Given the description of an element on the screen output the (x, y) to click on. 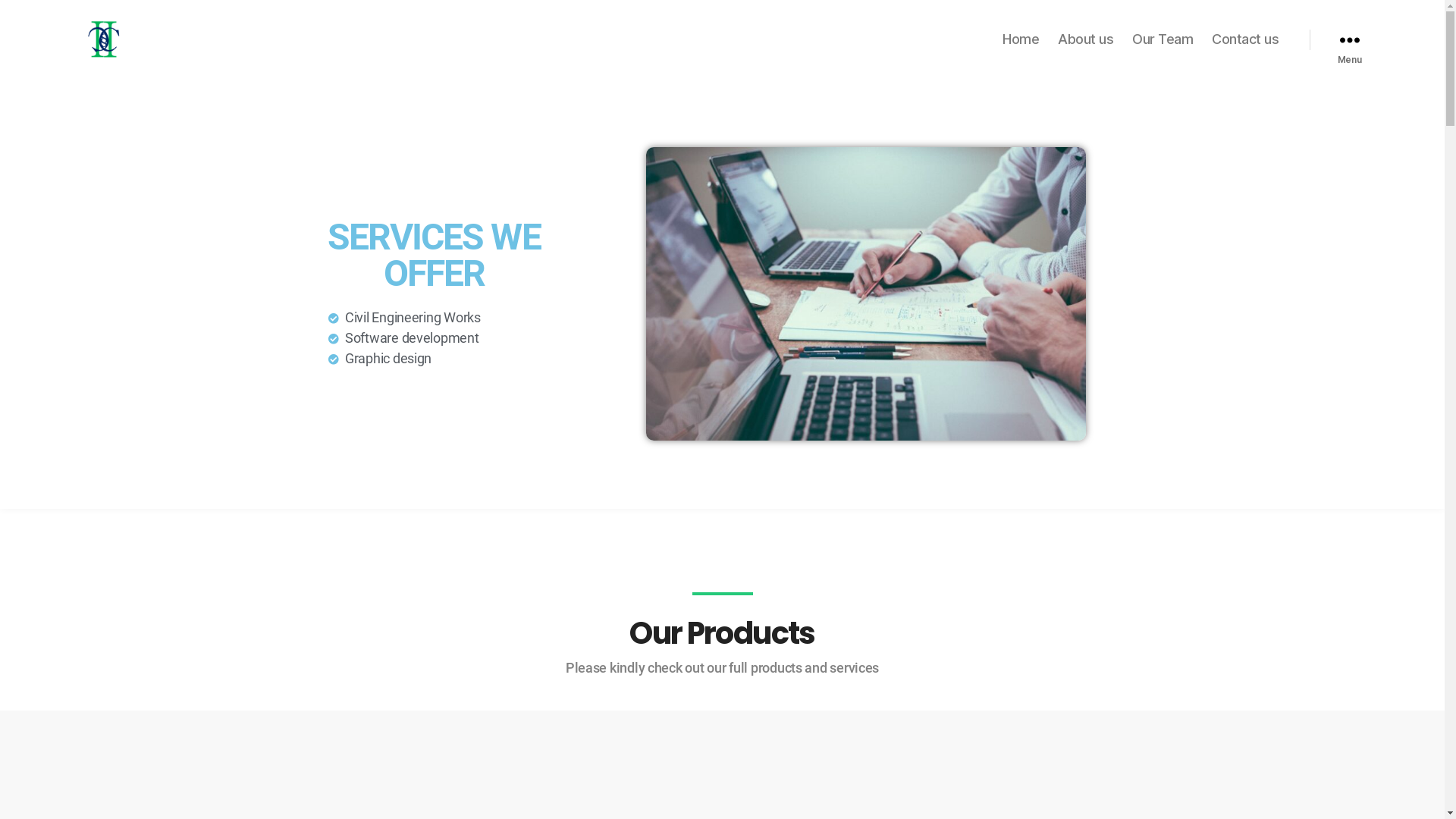
Menu Element type: text (1348, 39)
About us Element type: text (1085, 39)
Our Team Element type: text (1162, 39)
Home Element type: text (1020, 39)
Contact us Element type: text (1244, 39)
